Given the description of an element on the screen output the (x, y) to click on. 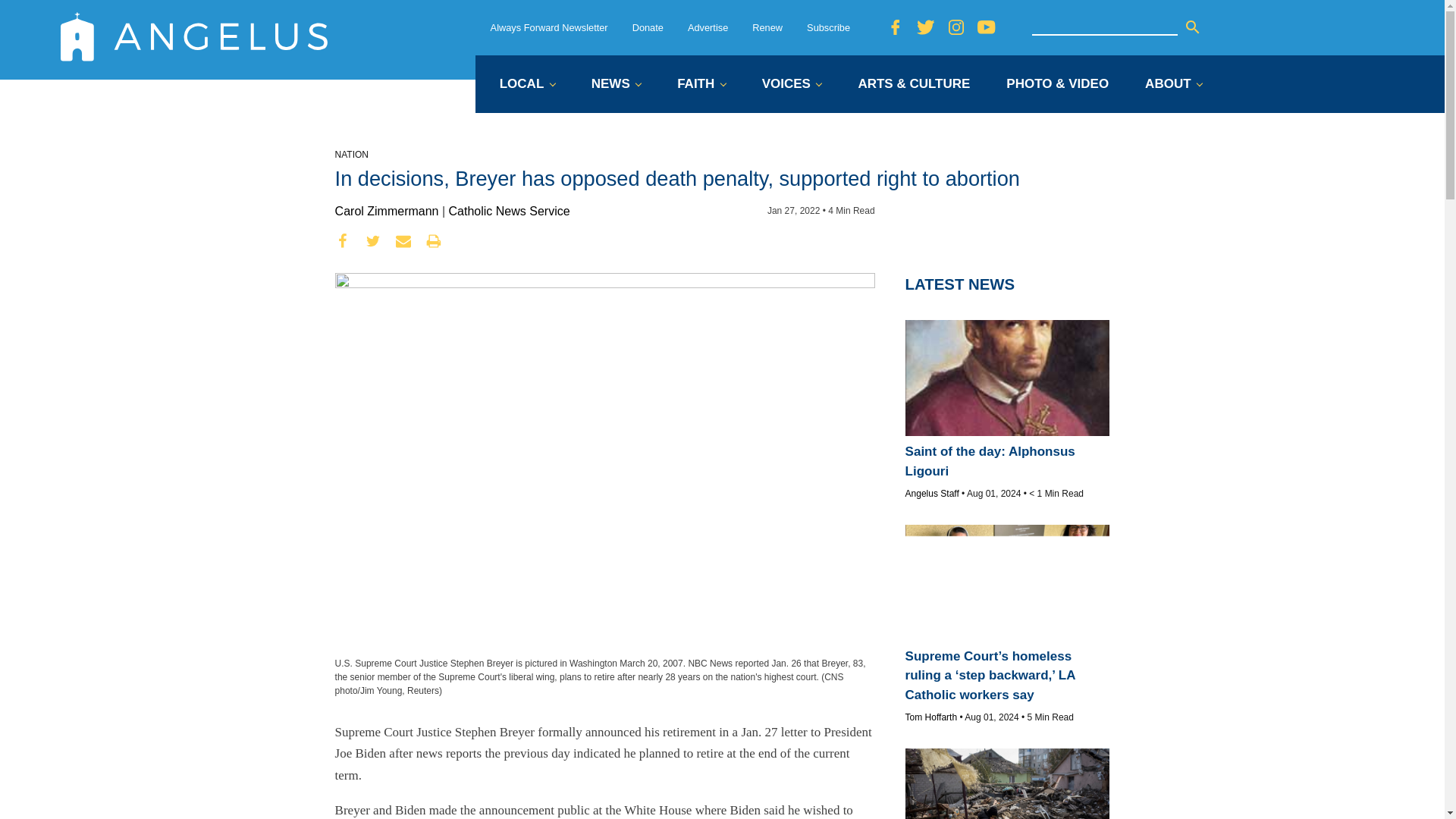
NEWS (615, 84)
envelope (403, 240)
Donate (647, 27)
Subscribe (828, 27)
LOCAL (526, 84)
ABOUT (1173, 84)
Posts by Angelus Staff (932, 493)
VOICES (791, 84)
Posts by Tom Hoffarth (930, 716)
print (433, 240)
Renew (767, 27)
FAITH (701, 84)
facebook (342, 240)
Always Forward Newsletter (549, 27)
Search (1192, 27)
